Given the description of an element on the screen output the (x, y) to click on. 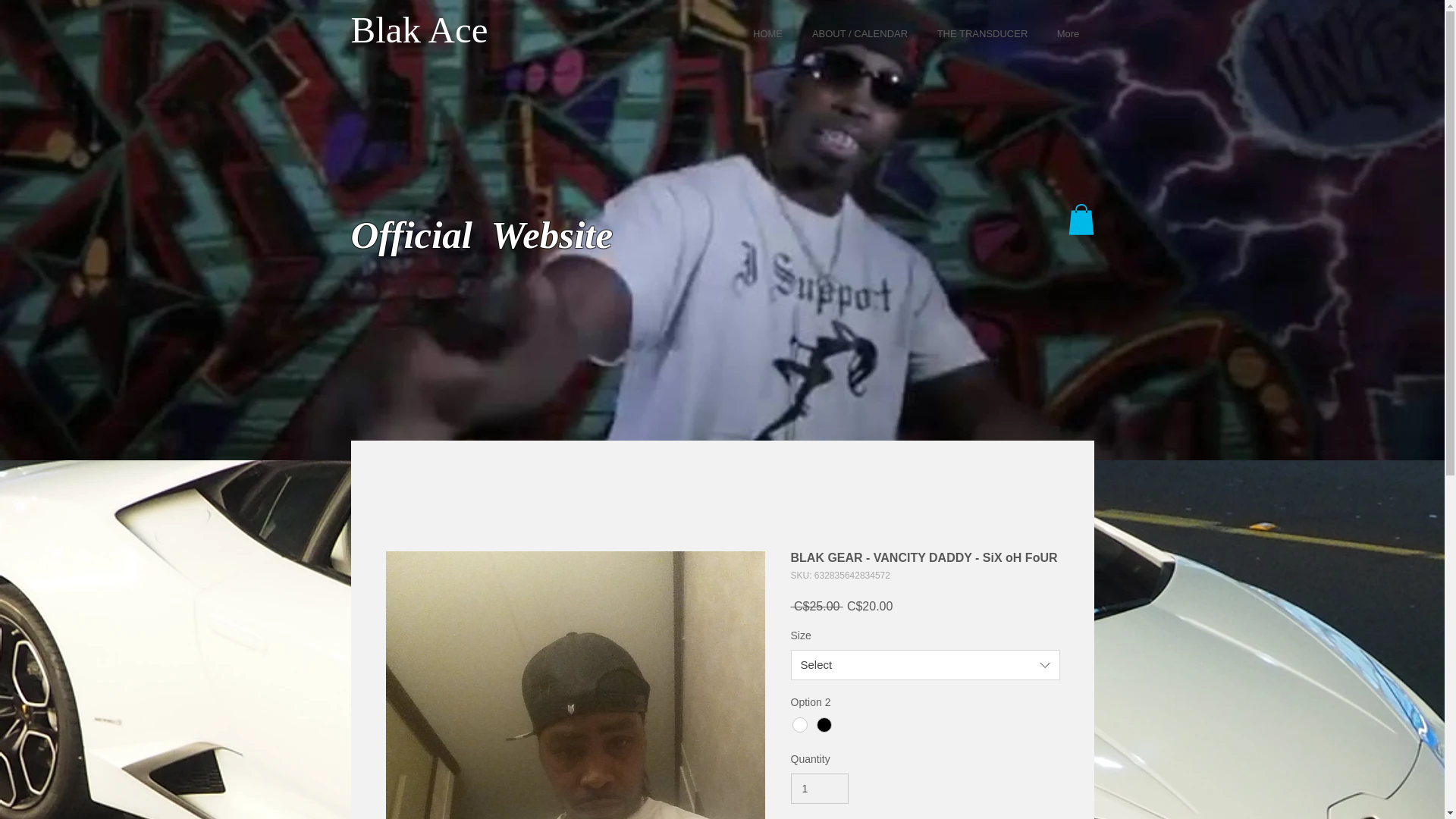
1 (818, 788)
Select (924, 665)
Blak Ace (418, 29)
HOME (767, 33)
THE TRANSDUCER (981, 33)
